Given the description of an element on the screen output the (x, y) to click on. 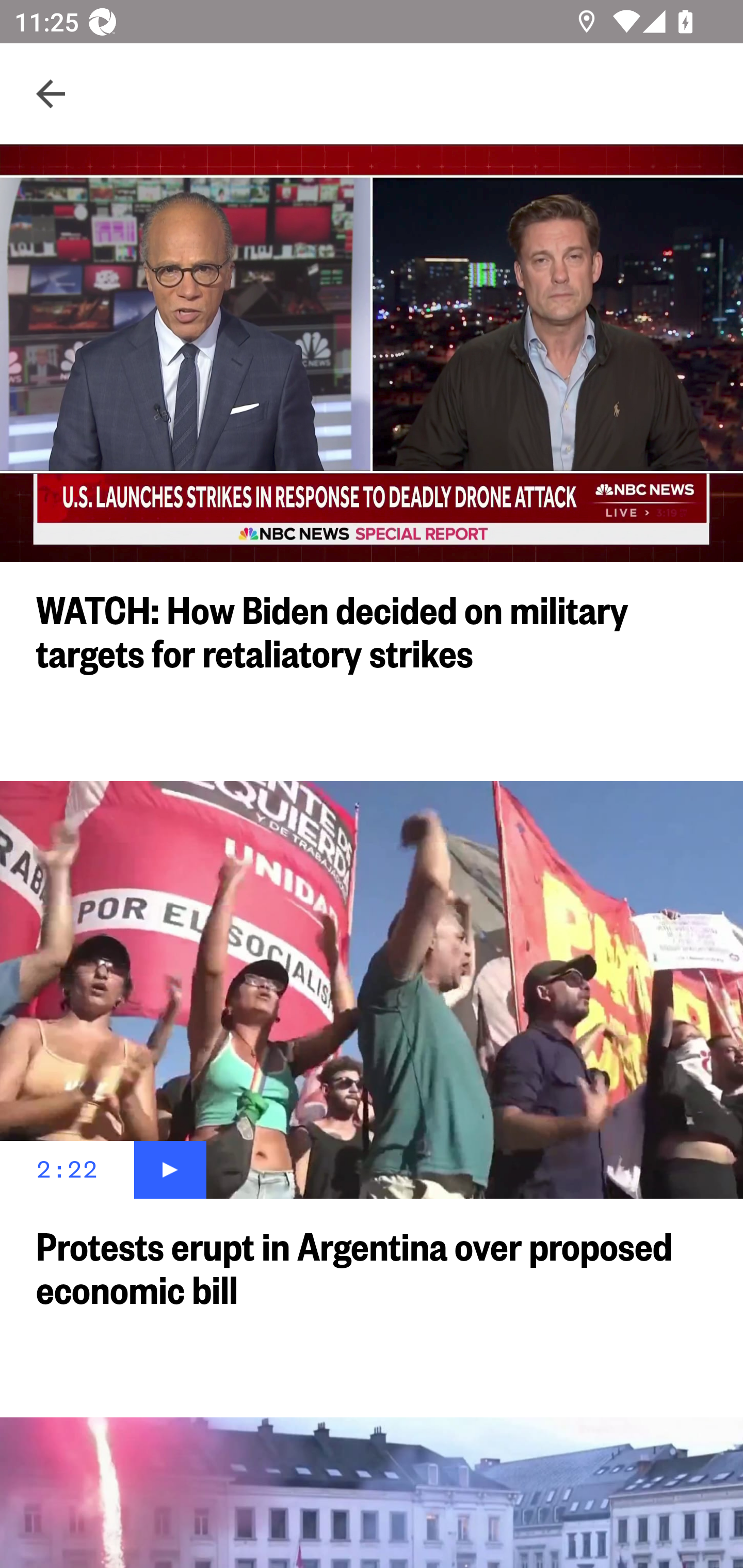
Navigate up (50, 93)
